Given the description of an element on the screen output the (x, y) to click on. 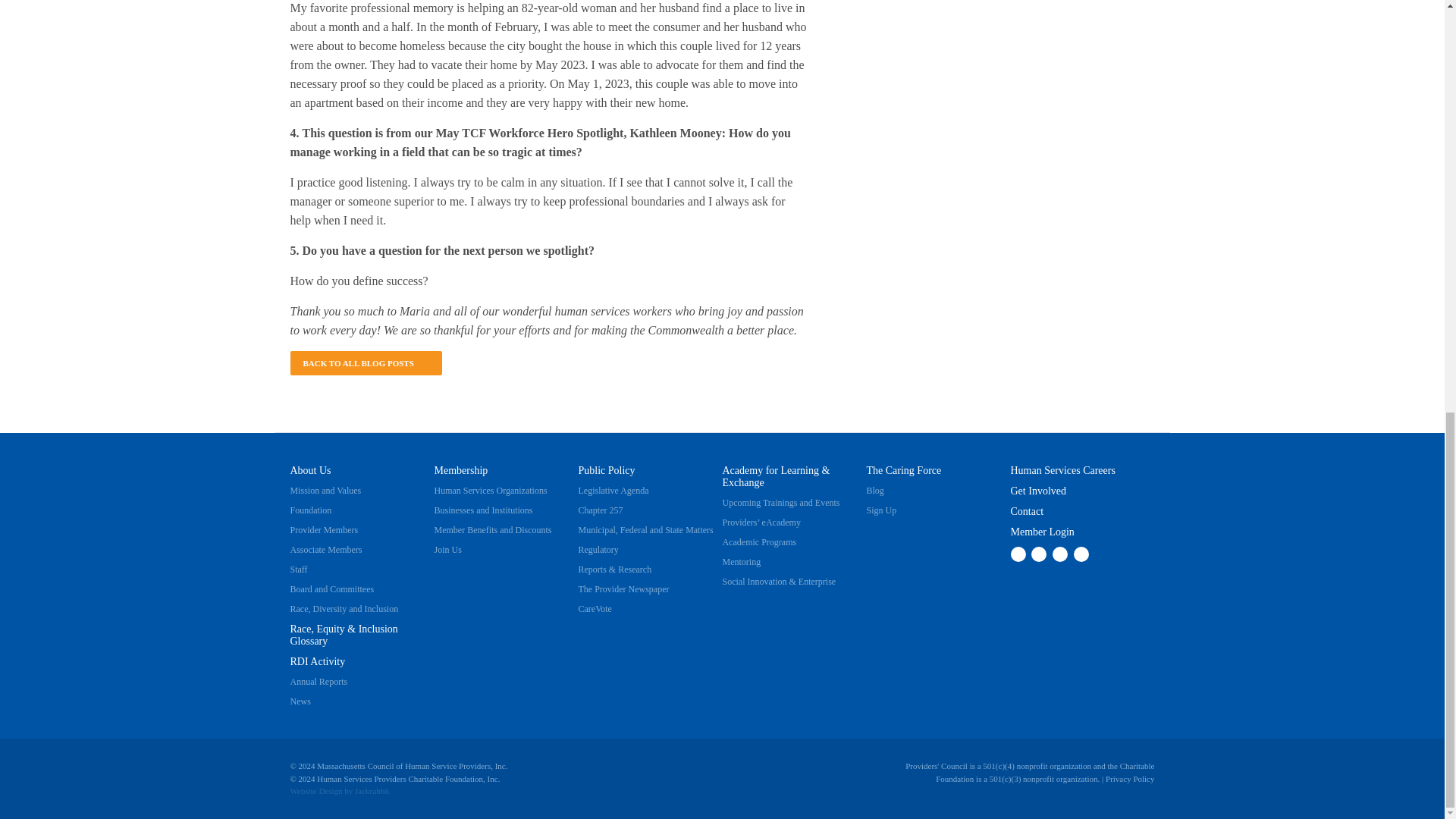
Website Design by Jackrabbit (371, 790)
Website Design by Jackrabbit (315, 790)
Privacy Policy (1129, 777)
